Given the description of an element on the screen output the (x, y) to click on. 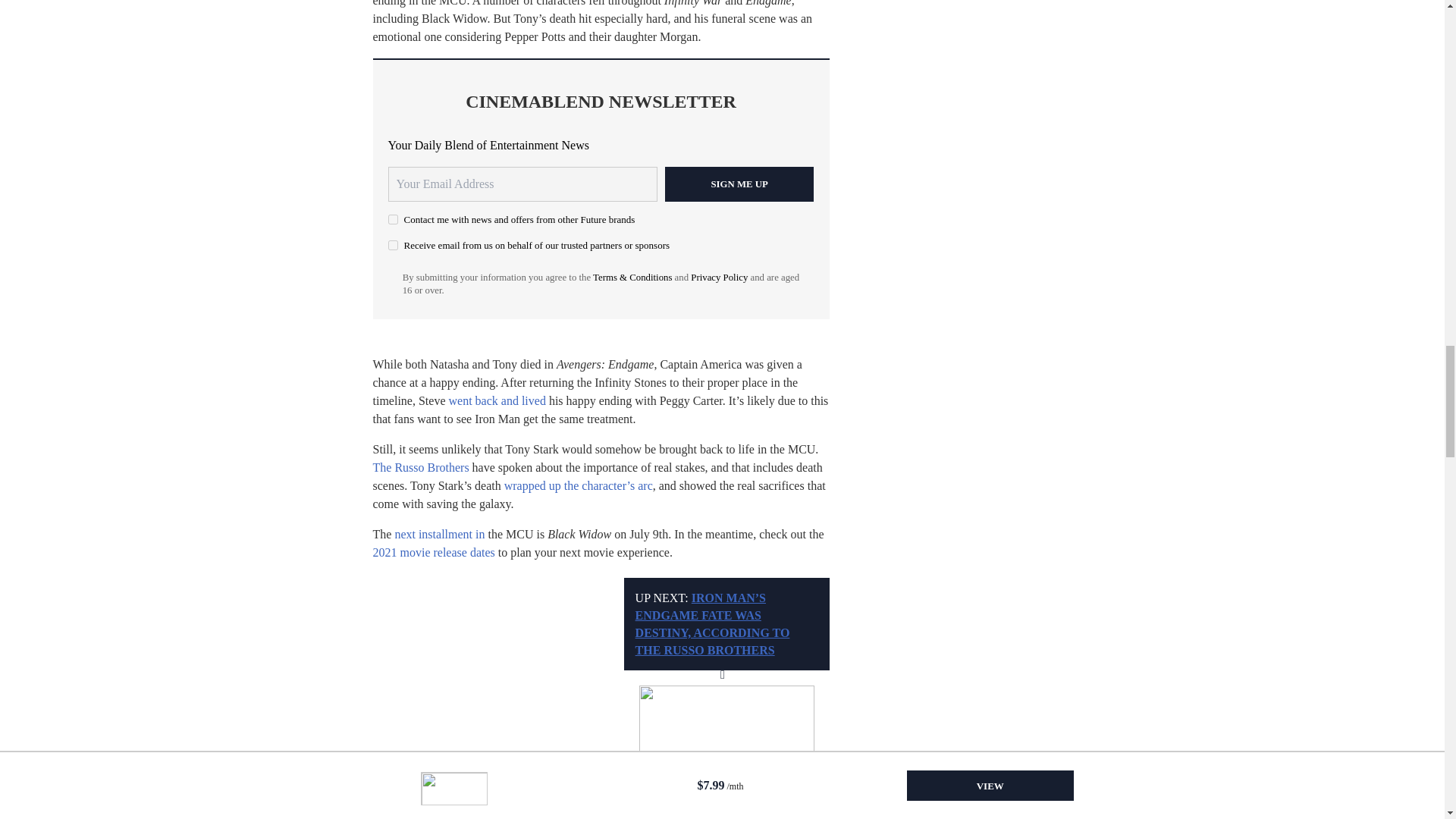
Sign me up (739, 184)
on (392, 219)
on (392, 245)
